Given the description of an element on the screen output the (x, y) to click on. 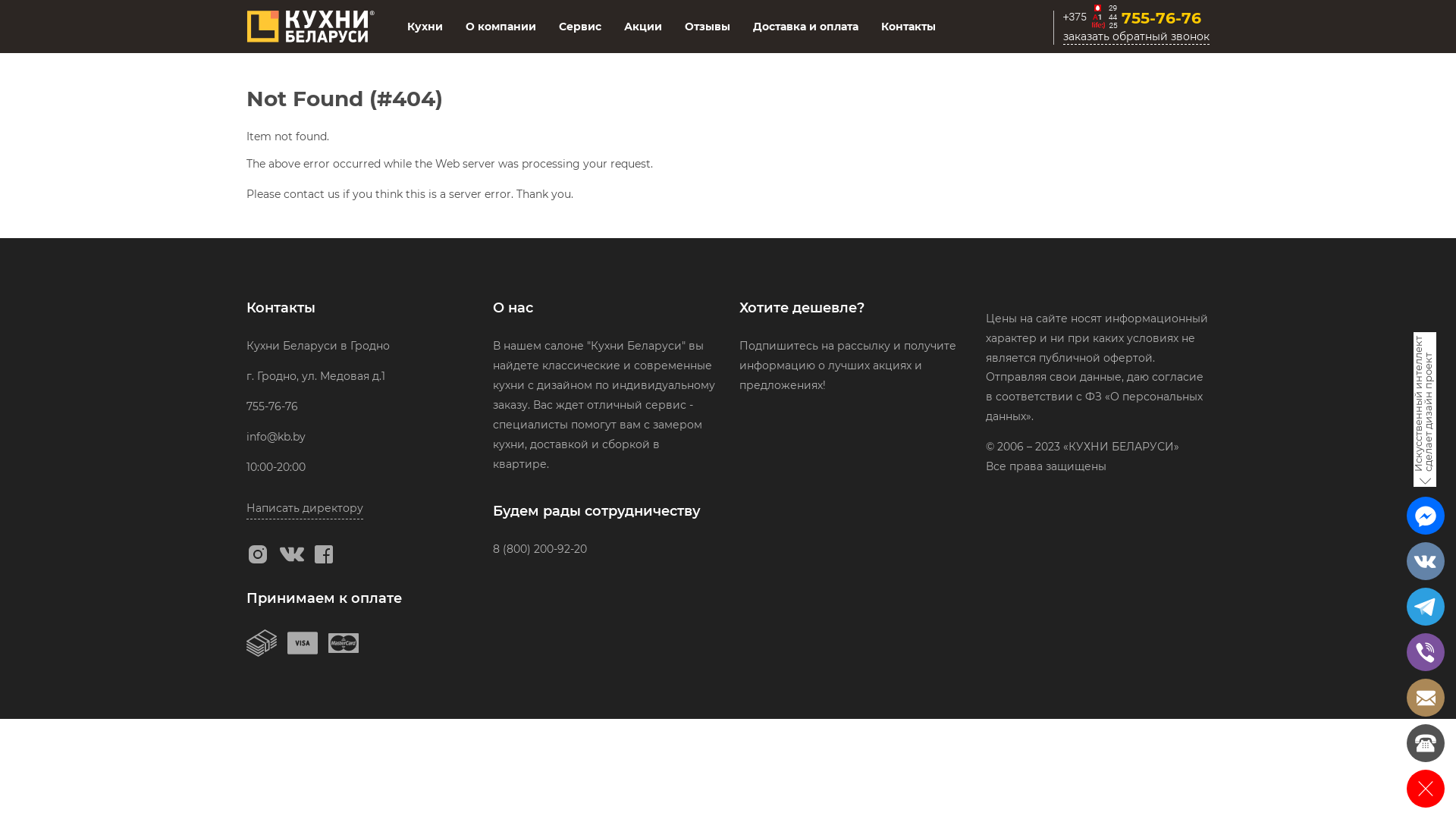
755-76-76 Element type: text (1136, 19)
755-76-76 Element type: text (272, 406)
8 (800) 200-92-20 Element type: text (539, 548)
info@kb.by Element type: text (275, 436)
